Given the description of an element on the screen output the (x, y) to click on. 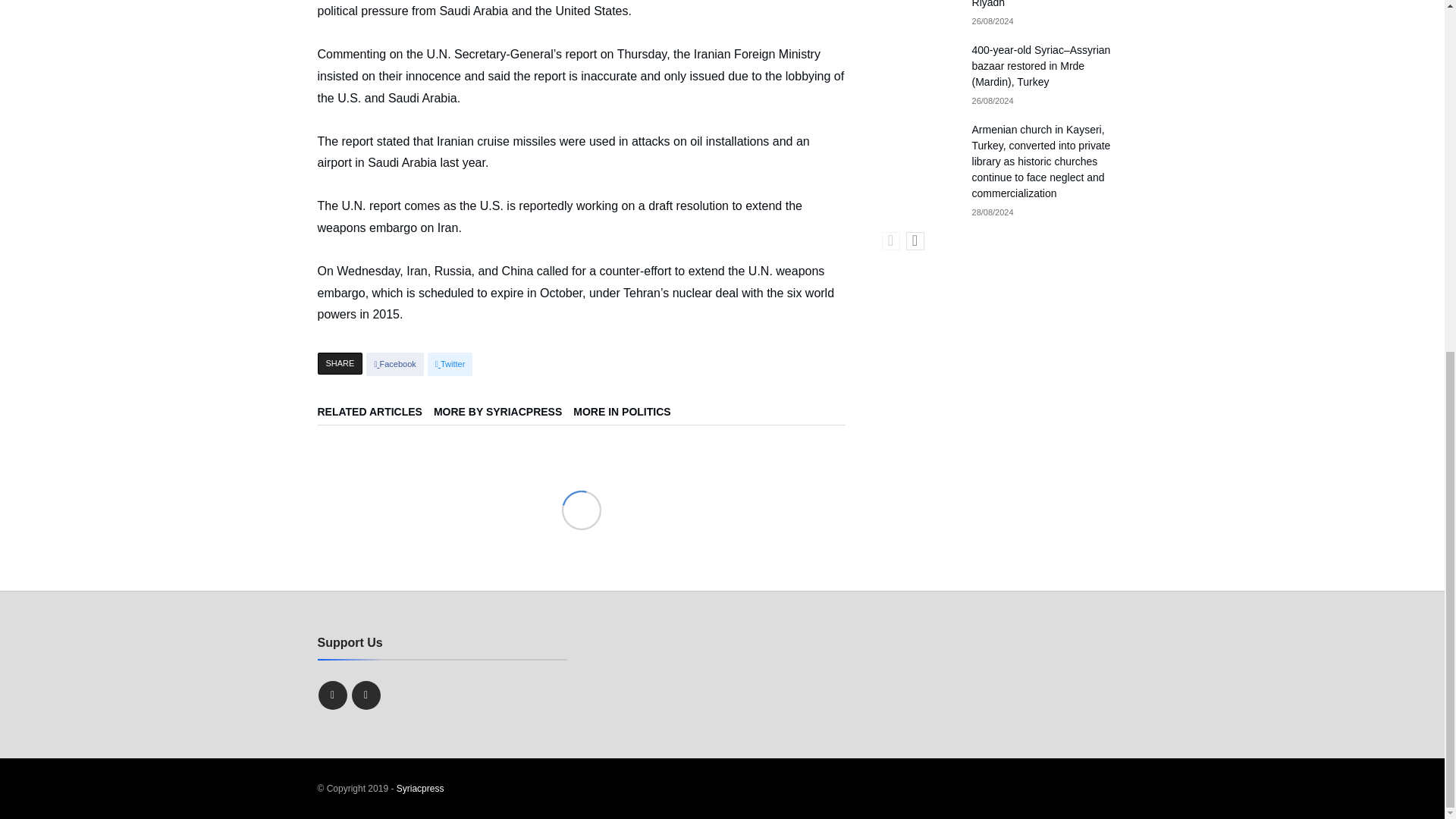
Facebook (394, 363)
MORE IN POLITICS (627, 415)
RELATED ARTICLES (374, 415)
facebook (394, 363)
twitter (450, 363)
Twitter (450, 363)
MORE BY SYRIACPRESS (503, 415)
